Given the description of an element on the screen output the (x, y) to click on. 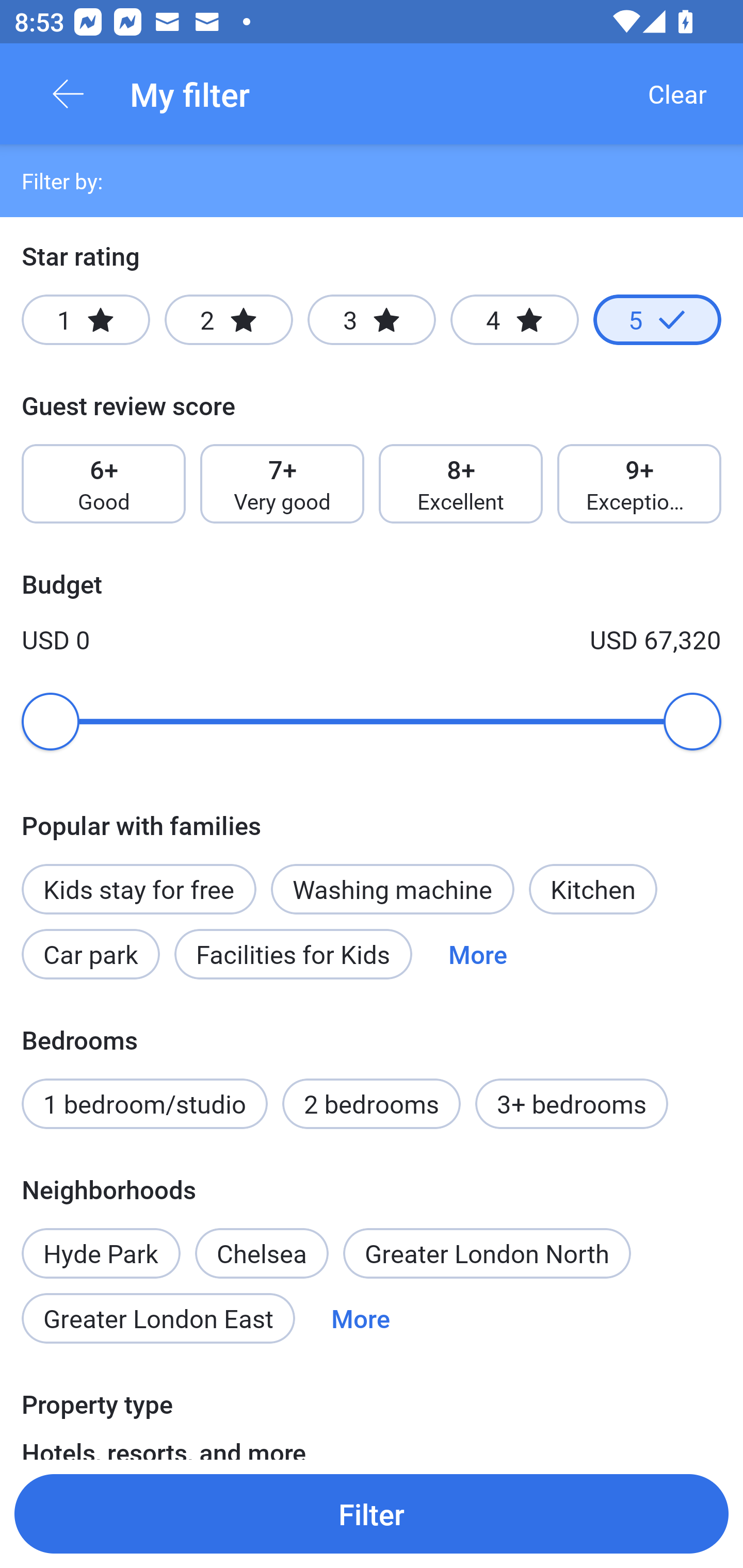
Clear (676, 93)
1 (85, 319)
2 (228, 319)
3 (371, 319)
4 (514, 319)
6+ Good (103, 483)
7+ Very good (281, 483)
8+ Excellent (460, 483)
9+ Exceptional (639, 483)
Kids stay for free (138, 888)
Washing machine (392, 888)
Kitchen (593, 888)
Car park (90, 954)
Facilities for Kids (293, 954)
More (477, 954)
1 bedroom/studio (144, 1103)
2 bedrooms (371, 1103)
3+ bedrooms (571, 1103)
Hyde Park (100, 1242)
Chelsea (261, 1253)
Greater London North (486, 1253)
Greater London East (157, 1317)
More (360, 1317)
Filter (371, 1513)
